Given the description of an element on the screen output the (x, y) to click on. 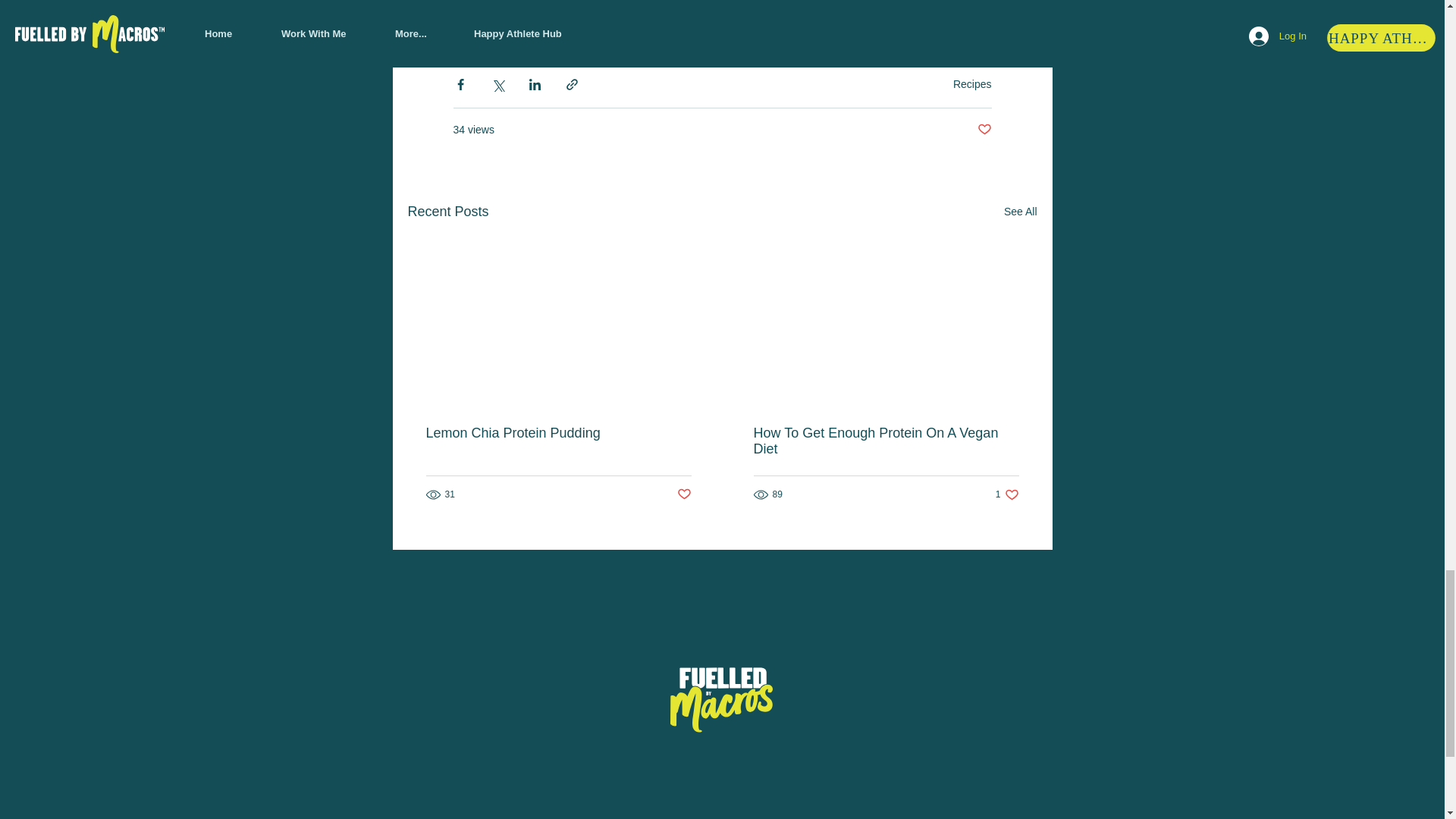
200-400kcals (493, 26)
How To Get Enough Protein On A Vegan Diet (886, 441)
Lemon Chia Protein Pudding (558, 433)
See All (1020, 210)
Post not marked as liked (983, 129)
Recipes (1007, 494)
Protein Snacks (972, 83)
Post not marked as liked (587, 26)
